Given the description of an element on the screen output the (x, y) to click on. 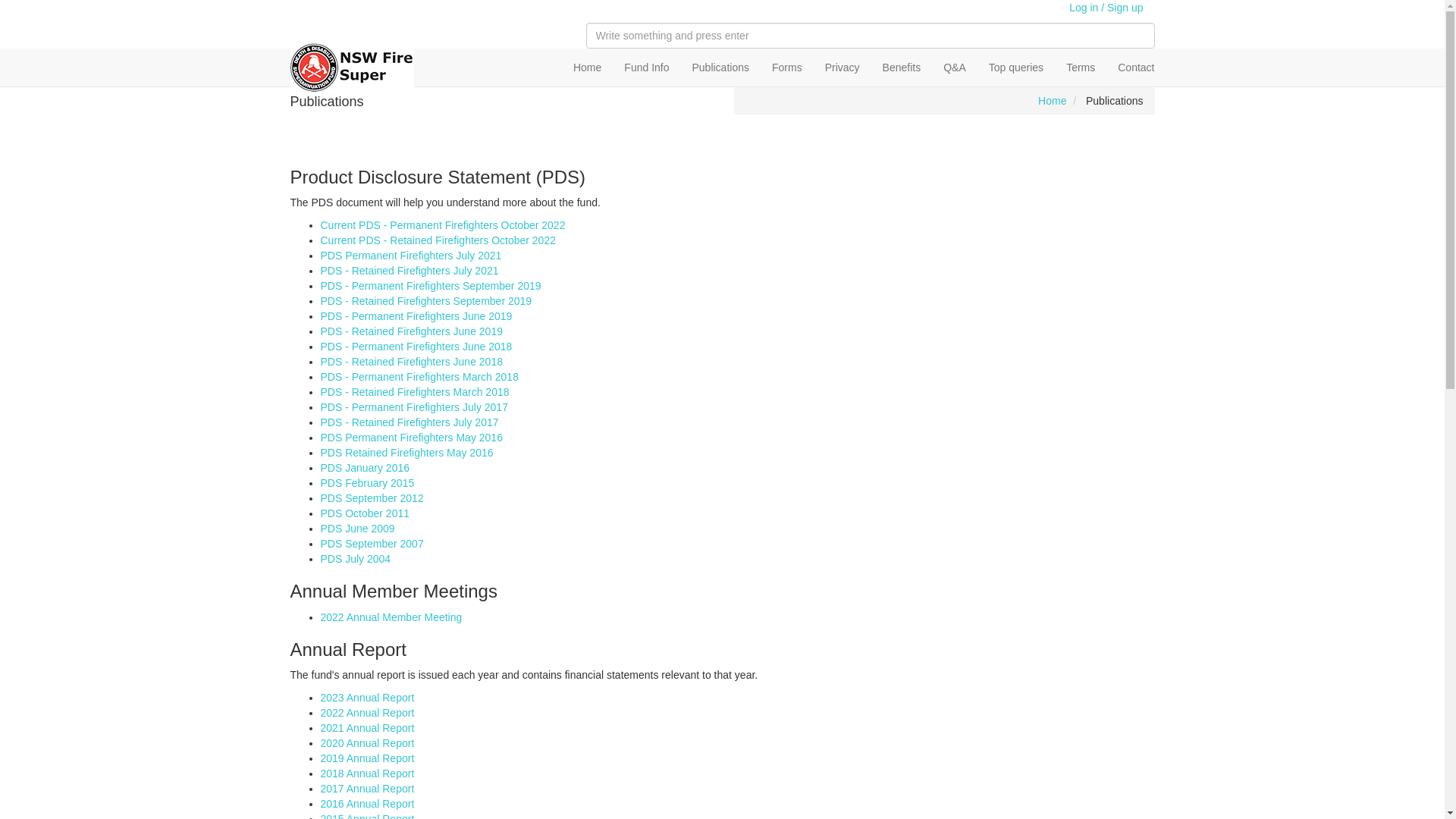
Q&A Element type: text (954, 67)
2021 Annual Report Element type: text (367, 727)
2017 Annual Report Element type: text (367, 788)
PDS - Permanent Firefighters September 2019 Element type: text (430, 285)
Log in / Sign up Element type: text (1105, 7)
Terms Element type: text (1080, 67)
PDS - Retained Firefighters July 2017 Element type: text (409, 422)
Benefits Element type: text (901, 67)
PDS - Retained Firefighters March 2018 Element type: text (414, 391)
PDS June 2009 Element type: text (357, 528)
PDS January 2016 Element type: text (364, 467)
Top queries Element type: text (1015, 67)
2016 Annual Report Element type: text (367, 803)
PDS - Permanent Firefighters July 2017 Element type: text (413, 407)
Publications Element type: text (720, 67)
PDS October 2011 Element type: text (364, 513)
Current PDS - Retained Firefighters October 2022 Element type: text (437, 240)
PDS Retained Firefighters May 2016 Element type: text (406, 452)
2019 Annual Report Element type: text (367, 758)
2022 Annual Report Element type: text (367, 712)
PDS - Retained Firefighters July 2021 Element type: text (409, 270)
PDS - Retained Firefighters June 2019 Element type: text (411, 331)
Current PDS - Permanent Firefighters October 2022 Element type: text (442, 225)
PDS - Retained Firefighters September 2019 Element type: text (425, 300)
2020 Annual Report Element type: text (367, 743)
2022 Annual Member Meeting Element type: text (390, 617)
PDS February 2015 Element type: text (367, 482)
2023 Annual Report Element type: text (367, 697)
PDS September 2007 Element type: text (371, 543)
PDS July 2004 Element type: text (355, 558)
PDS - Permanent Firefighters June 2019 Element type: text (415, 316)
2018 Annual Report Element type: text (367, 773)
Forms Element type: text (786, 67)
PDS - Permanent Firefighters March 2018 Element type: text (418, 376)
PDS September 2012 Element type: text (371, 498)
Home Element type: text (586, 67)
Home Element type: text (1052, 100)
PDS Permanent Firefighters July 2021 Element type: text (410, 255)
PDS - Retained Firefighters June 2018 Element type: text (411, 361)
PDS Permanent Firefighters May 2016 Element type: text (411, 437)
Contact Element type: text (1135, 67)
Privacy Element type: text (842, 67)
Fund Info Element type: text (646, 67)
PDS - Permanent Firefighters June 2018 Element type: text (415, 346)
